Given the description of an element on the screen output the (x, y) to click on. 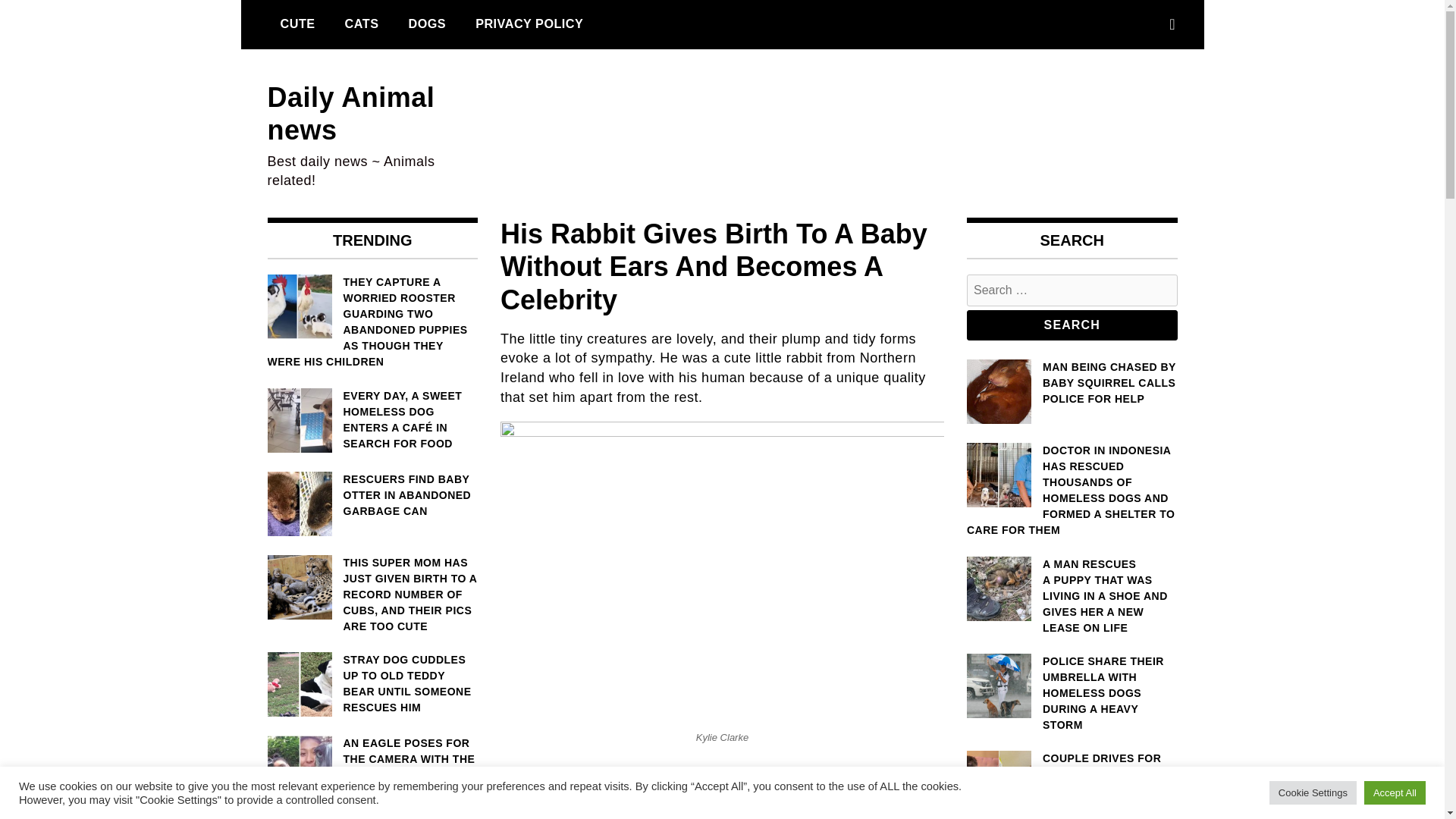
Search (1071, 325)
CATS (361, 23)
PRIVACY POLICY (529, 23)
MAN BEING CHASED BY BABY SQUIRREL CALLS POLICE FOR HELP (1071, 383)
RESCUERS FIND BABY OTTER IN ABANDONED GARBAGE CAN (371, 495)
Search (1071, 325)
